Given the description of an element on the screen output the (x, y) to click on. 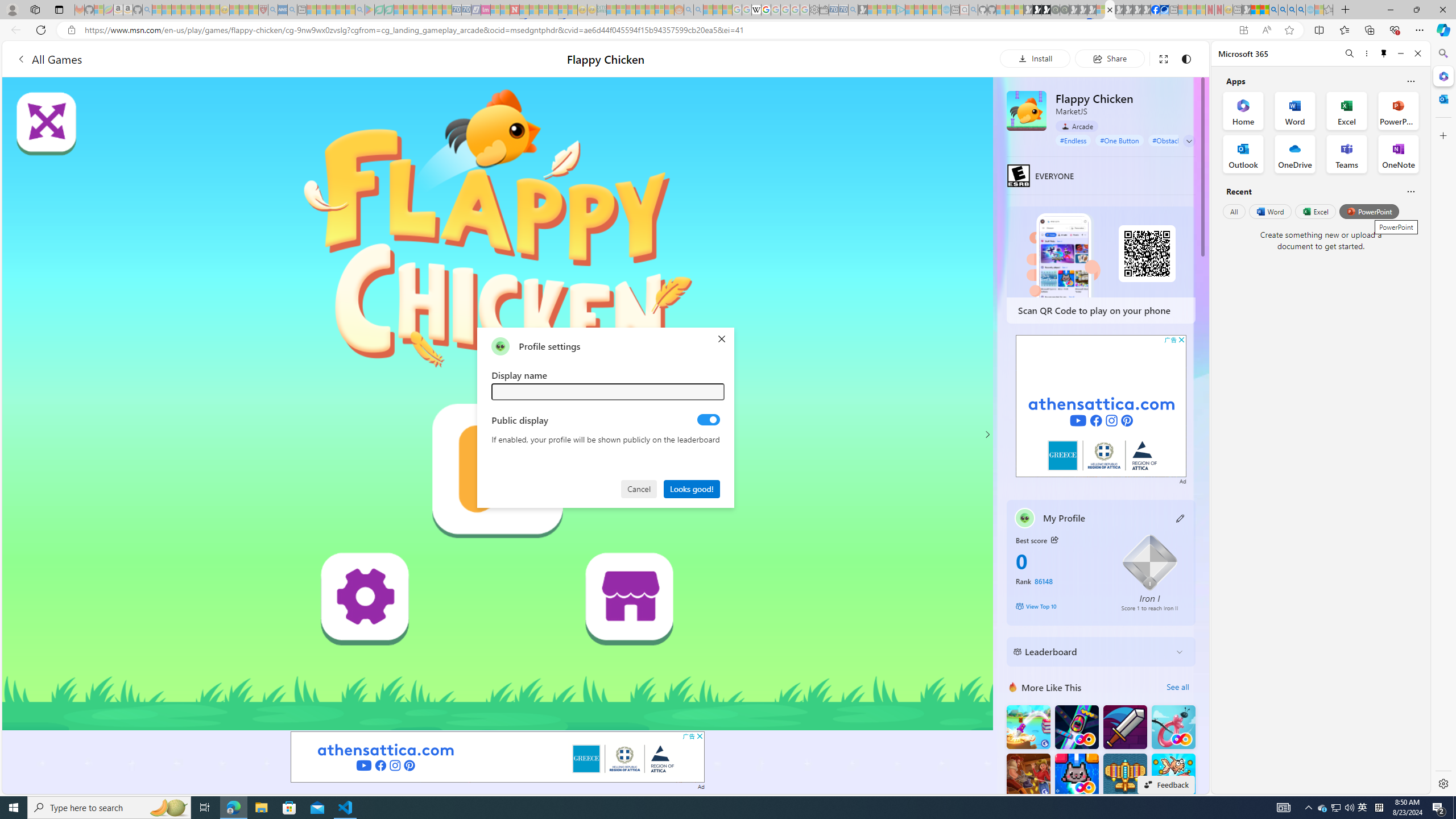
Full screen (1163, 58)
Local - MSN - Sleeping (253, 9)
Saloon Robbery (1028, 775)
Microsoft Start Gaming - Sleeping (862, 9)
Atlantic Sky Hunter (1124, 775)
""'s avatar (500, 345)
